Given the description of an element on the screen output the (x, y) to click on. 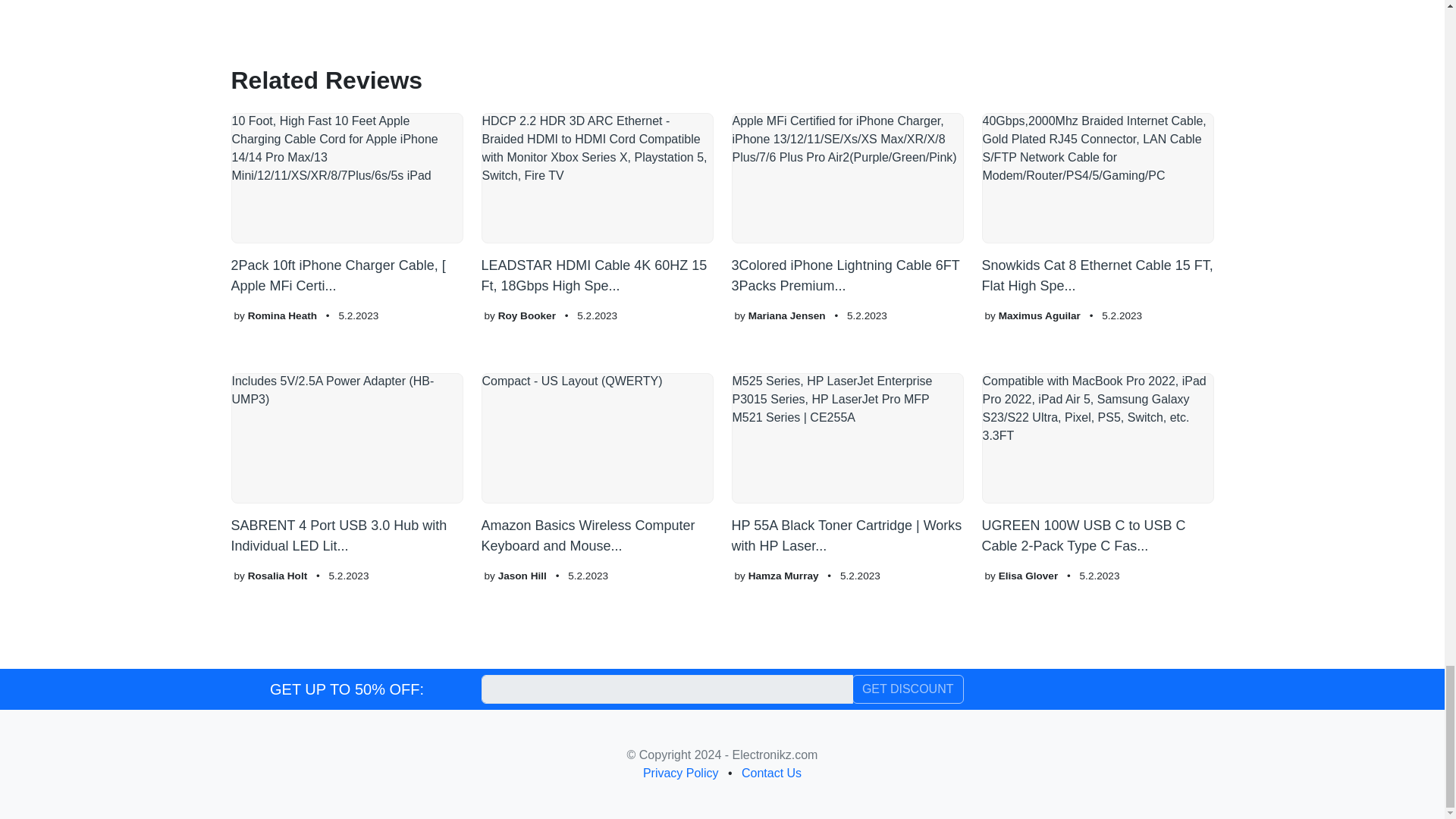
3Colored iPhone Lightning Cable 6FT 3Packs Premium... (846, 204)
SABRENT 4 Port USB 3.0 Hub with Individual LED Lit... (346, 464)
Snowkids Cat 8 Ethernet Cable 15 FT, Flat High Spe... (1096, 204)
Amazon Basics Wireless Computer Keyboard and Mouse... (596, 464)
UGREEN 100W USB C to USB C Cable 2-Pack Type C Fas... (1096, 464)
LEADSTAR HDMI Cable 4K 60HZ 15 Ft, 18Gbps High Spe... (596, 204)
